Given the description of an element on the screen output the (x, y) to click on. 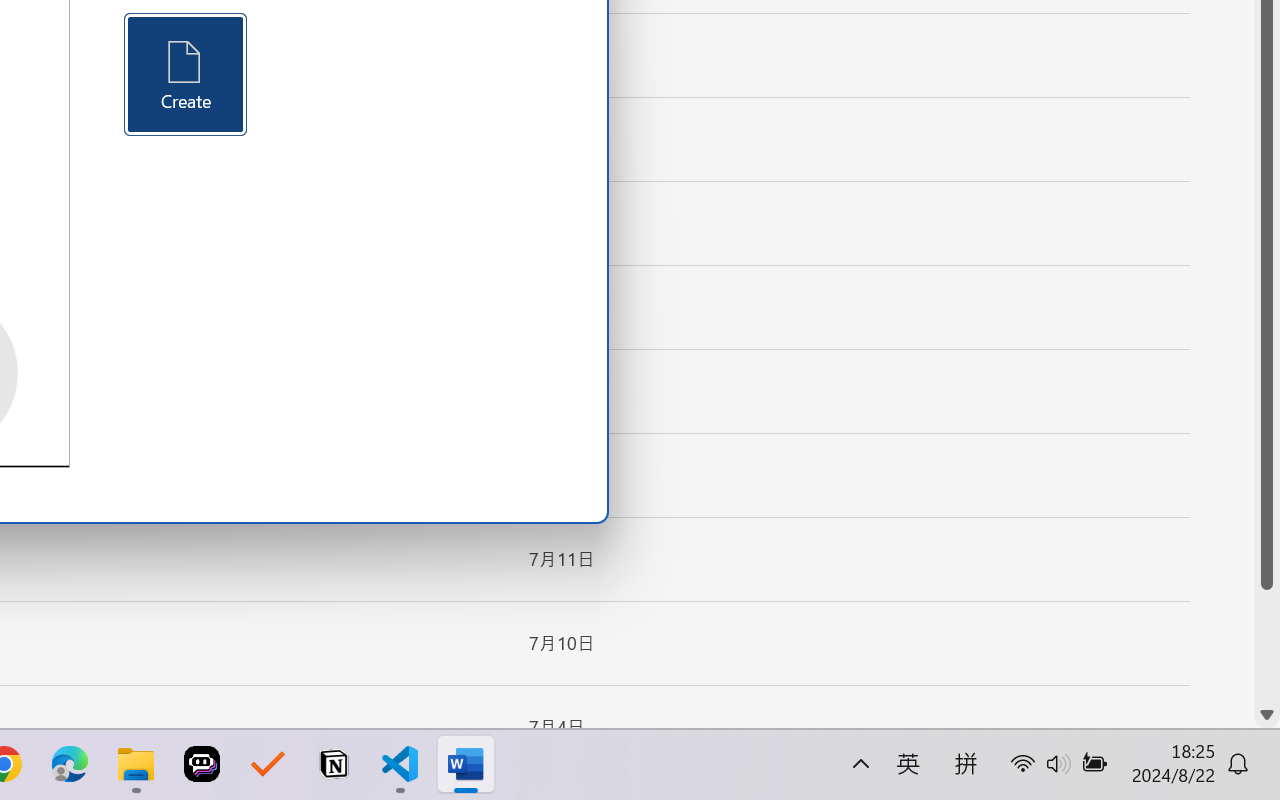
Pin this item to the list (480, 727)
Line down (1267, 715)
Microsoft Edge (69, 764)
Create (185, 74)
